Given the description of an element on the screen output the (x, y) to click on. 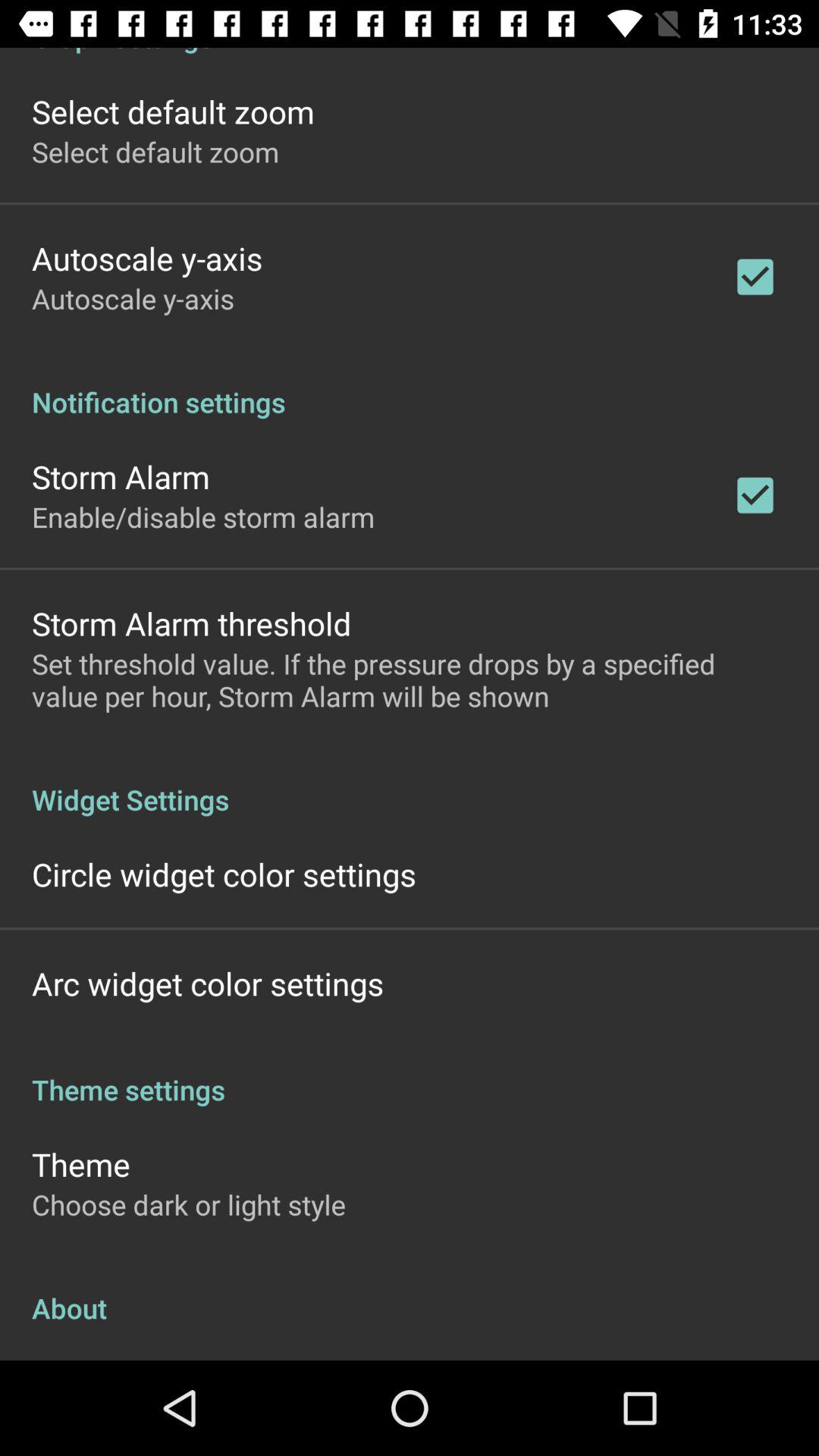
scroll to the notification settings icon (409, 385)
